Given the description of an element on the screen output the (x, y) to click on. 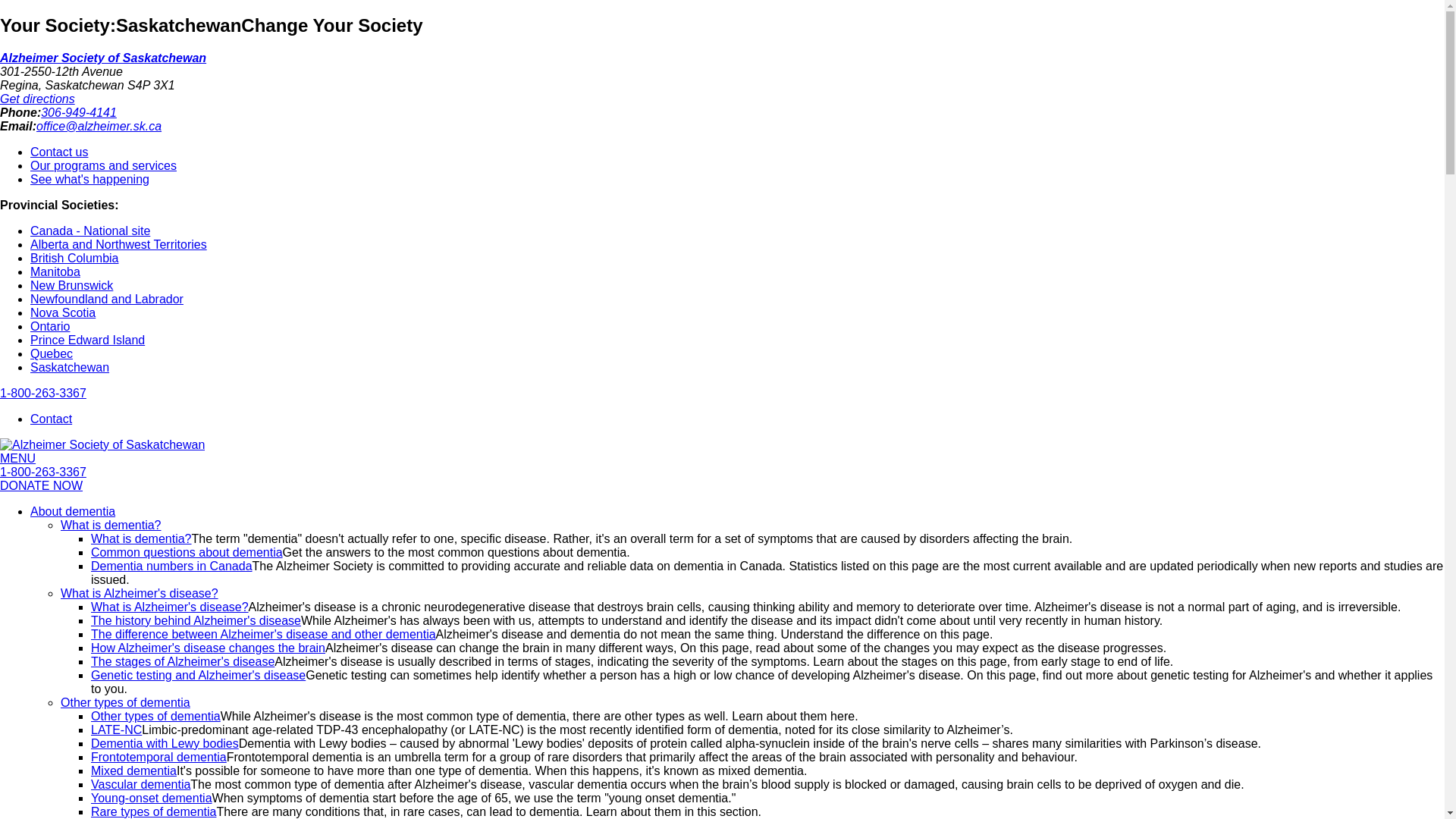
How Alzheimer's disease changes the brain (207, 647)
Call us (42, 392)
What is Alzheimer's disease? (169, 606)
New Brunswick (71, 285)
Alberta and Northwest Territories (118, 244)
Contact us (58, 151)
MENU (17, 458)
What is dementia? (141, 538)
Manitoba (55, 271)
What is Alzheimer's disease? (139, 593)
